Given the description of an element on the screen output the (x, y) to click on. 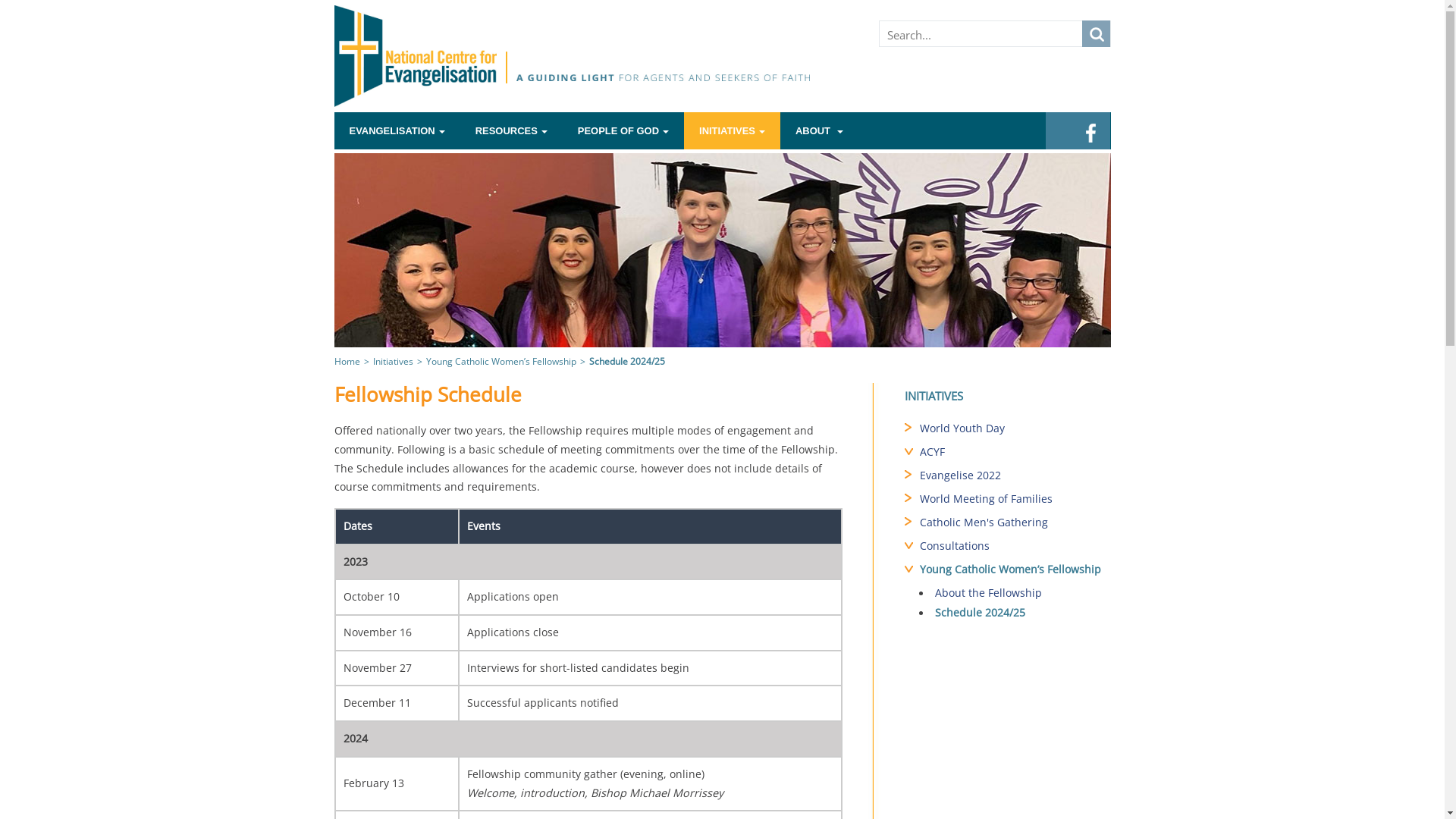
About the Fellowship Element type: text (1015, 594)
Schedule 2024/25 Element type: text (1015, 614)
World Meeting of Families Element type: text (1014, 500)
ACYF Element type: text (1014, 453)
Evangelise 2022 Element type: text (1014, 476)
Consultations Element type: text (1014, 547)
World Youth Day Element type: text (1014, 429)
Home Element type: text (346, 360)
SEARCH Element type: text (1095, 33)
Catholic Men's Gathering Element type: text (1014, 523)
